Given the description of an element on the screen output the (x, y) to click on. 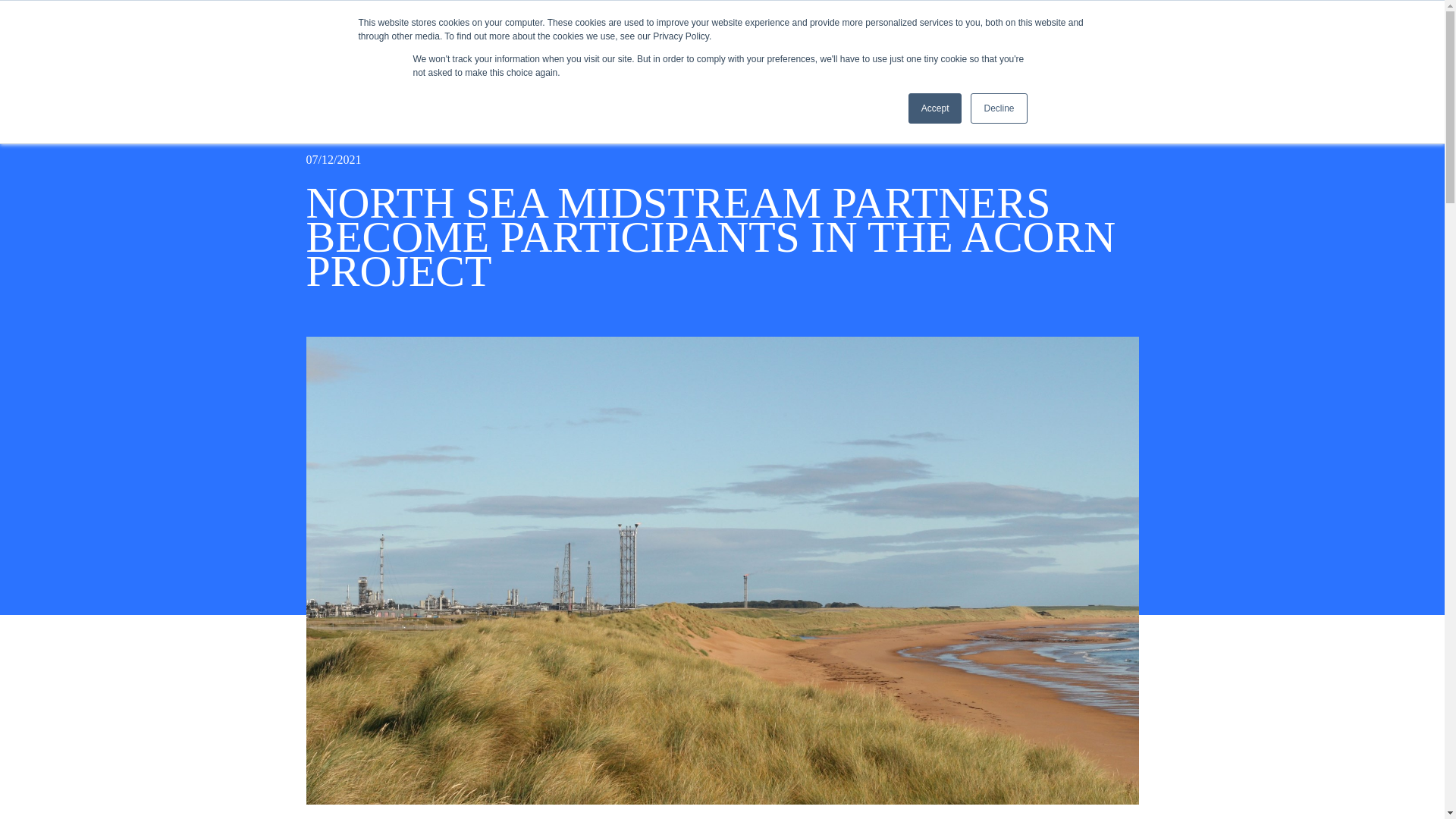
Join us (1045, 64)
Accept (935, 108)
Decline (998, 108)
What we do (928, 64)
Contact us (1135, 64)
About us (856, 64)
News (993, 64)
